Given the description of an element on the screen output the (x, y) to click on. 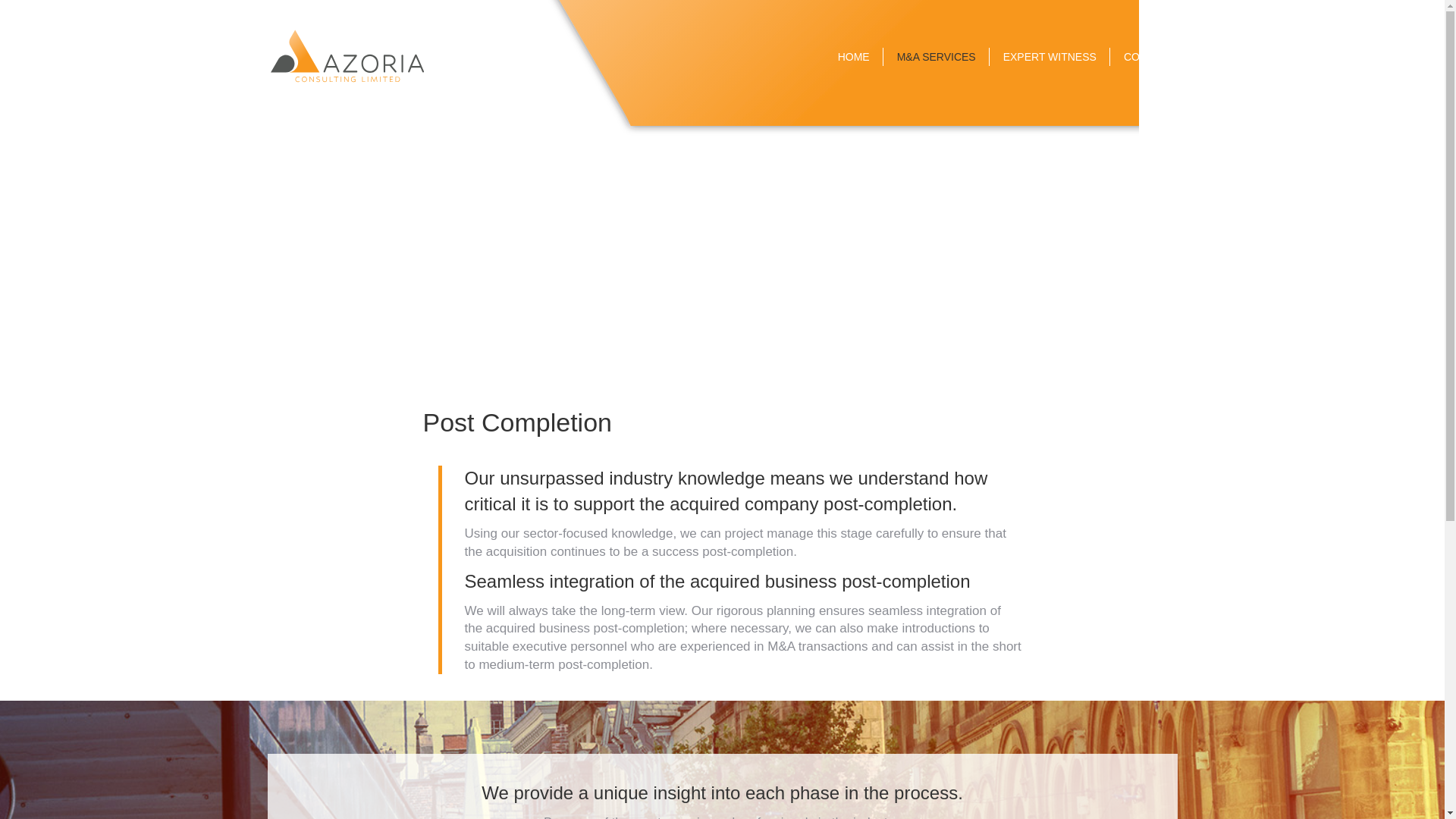
EXPERT WITNESS (1049, 56)
CONTACT (1149, 56)
HOME (853, 56)
